Given the description of an element on the screen output the (x, y) to click on. 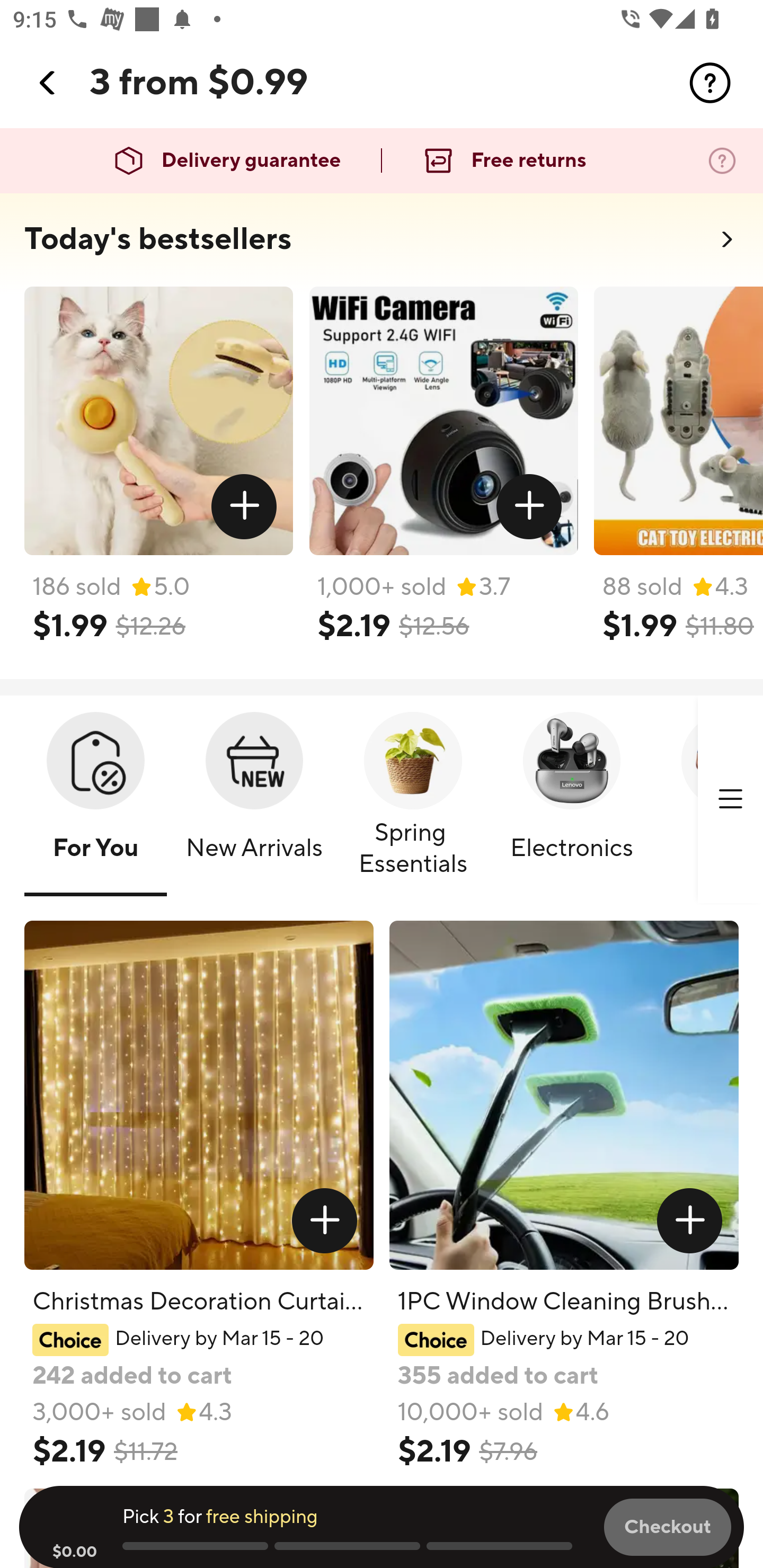
 (710, 82)
 (48, 82)
Today's bestsellers  Today's bestsellers  (381, 244)
Today's bestsellers (157, 239)
 (244, 506)
 (529, 506)
 (730, 799)
144x144.png_ For You (95, 800)
144x144.png_ New Arrivals (254, 800)
200x200.png_ Spring Essentials (412, 800)
300x300.png_ Electronics (571, 800)
 (323, 1220)
 (689, 1220)
